Given the description of an element on the screen output the (x, y) to click on. 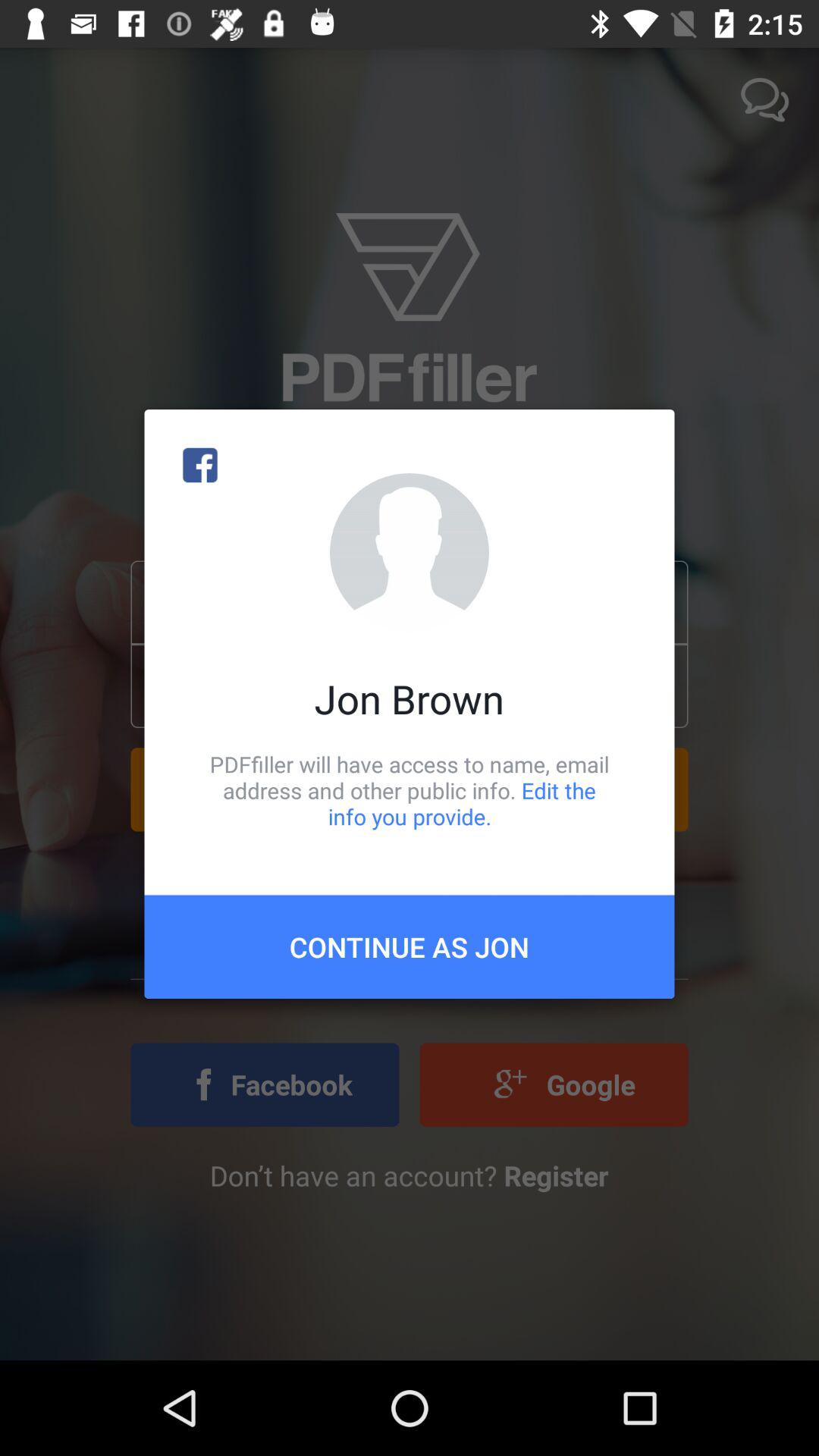
choose item below the jon brown icon (409, 790)
